Given the description of an element on the screen output the (x, y) to click on. 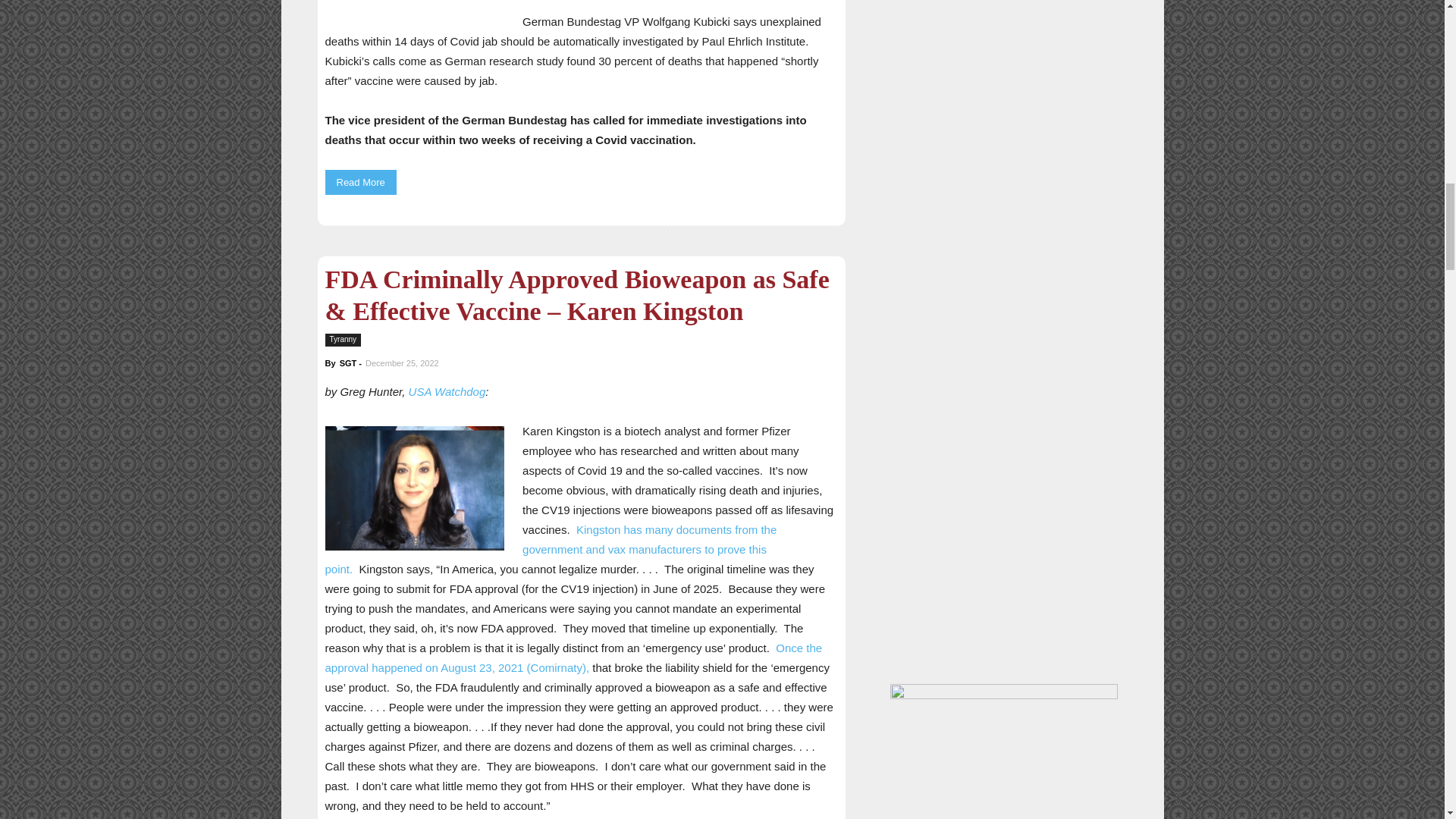
Read More (360, 181)
Tyranny (342, 339)
SGT (347, 362)
